Given the description of an element on the screen output the (x, y) to click on. 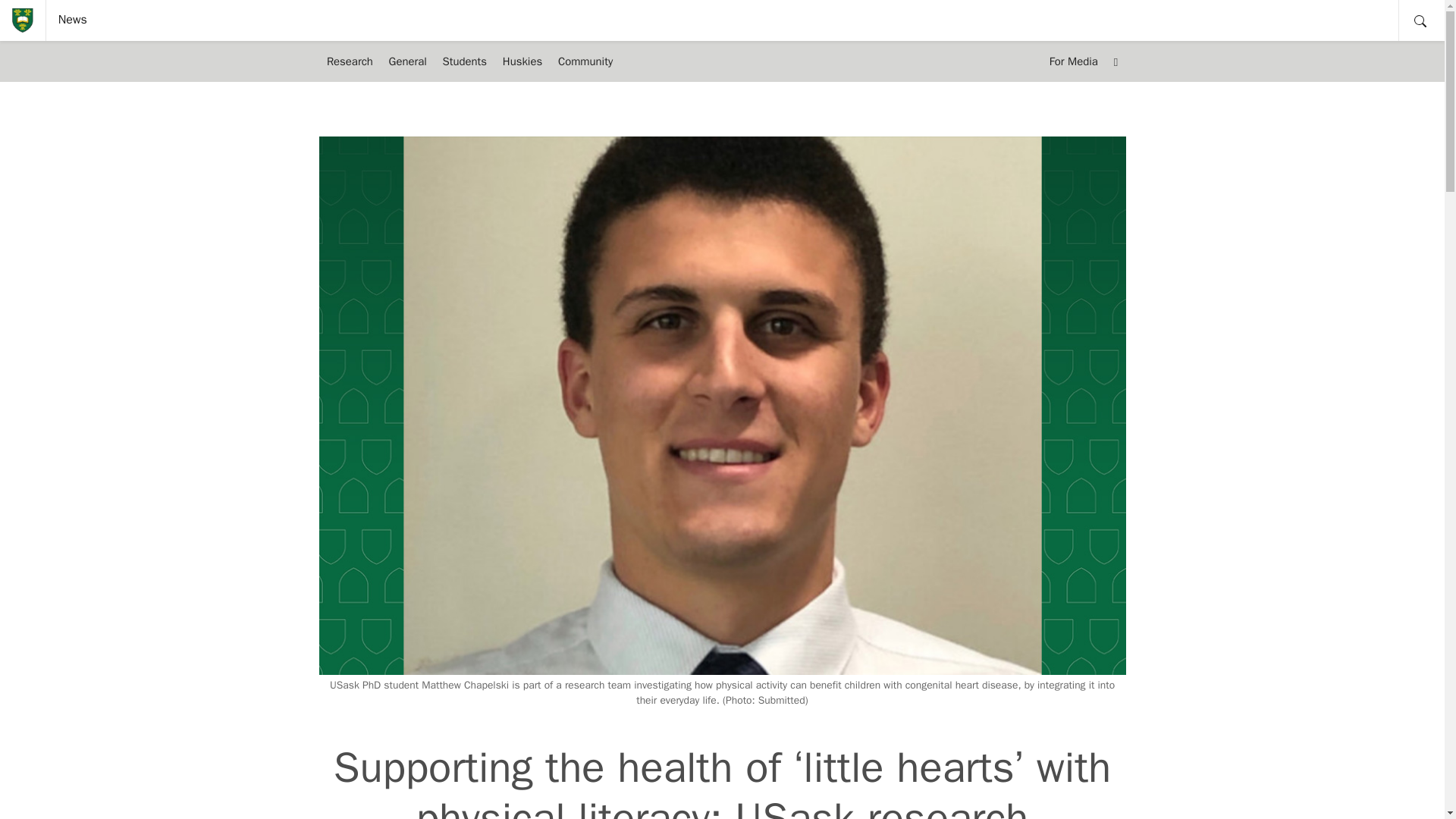
Community (585, 60)
General (406, 60)
Huskies (522, 60)
Research (349, 60)
News (72, 20)
For Media (1073, 60)
Students (464, 60)
